Given the description of an element on the screen output the (x, y) to click on. 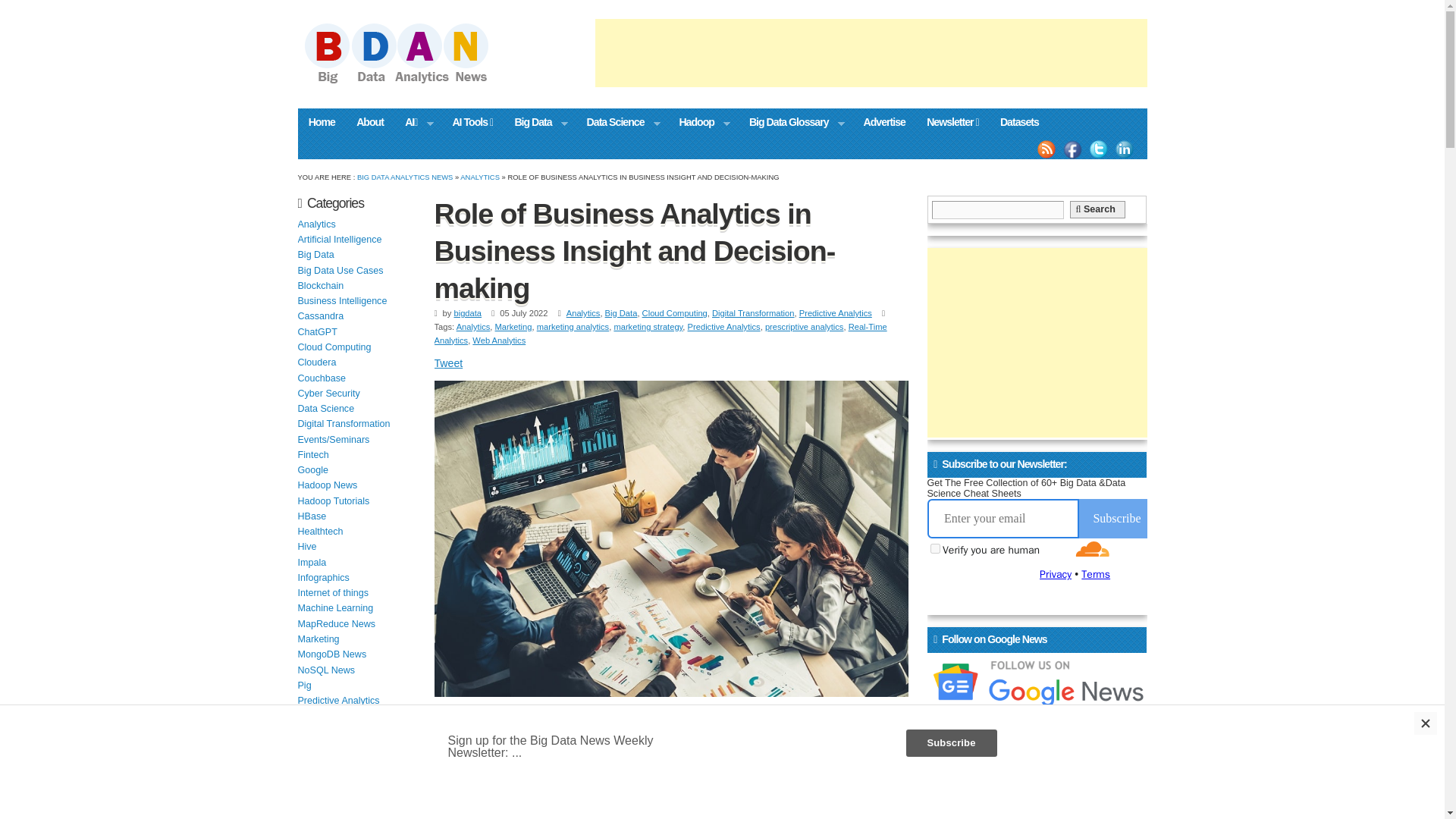
Big Data Analytics News (404, 176)
Advertise (883, 121)
Home (321, 121)
Posts by bigdata (466, 312)
Check out our Linkedin profile (1123, 149)
View all posts in Analytics (479, 176)
Big Data Analytics News (412, 81)
Follow us on Twitter (1097, 149)
Like us on Facebook (1071, 149)
Subscribe to rss feed (1045, 149)
Advertisement (870, 52)
About (370, 121)
